Given the description of an element on the screen output the (x, y) to click on. 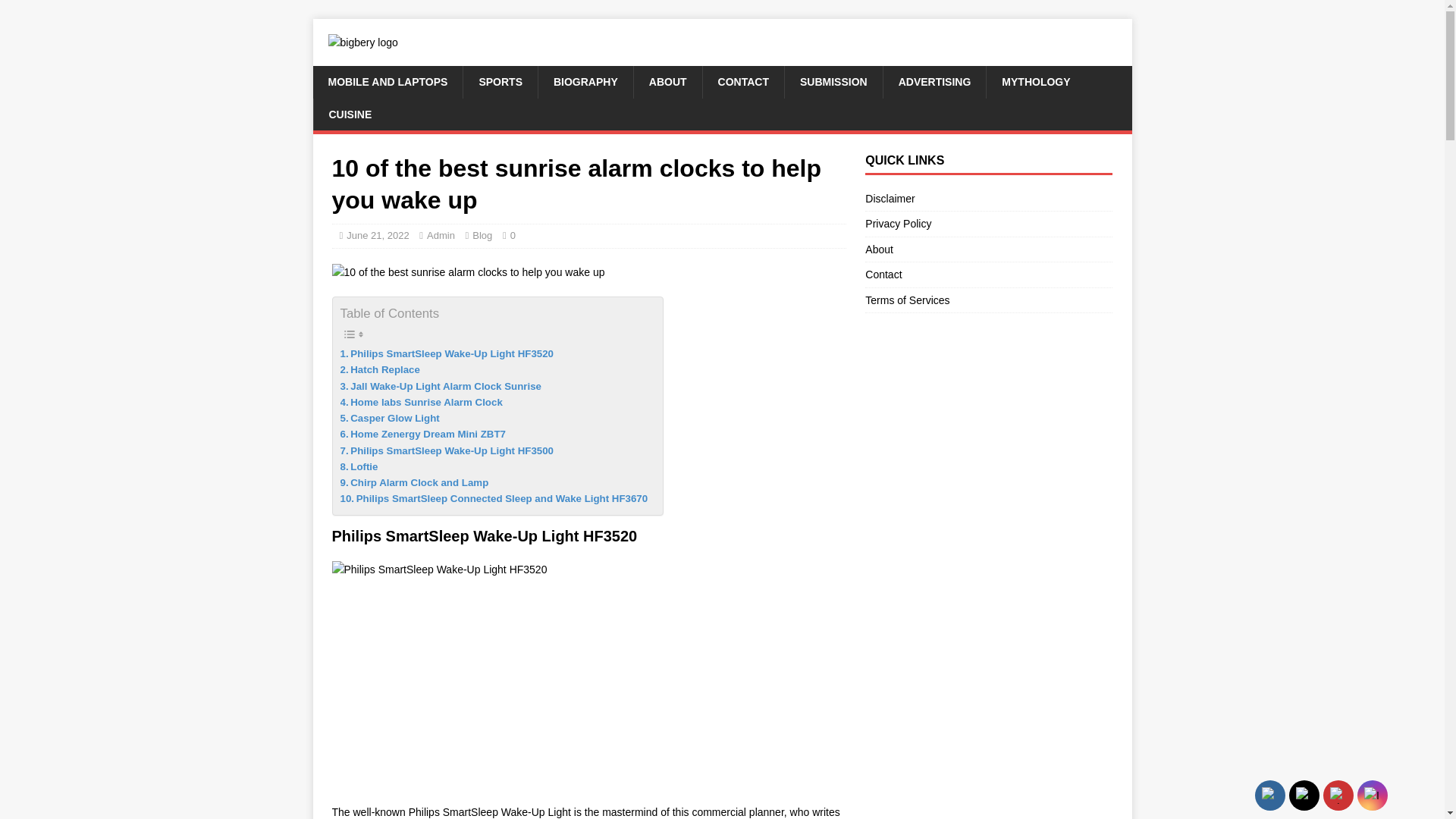
Jall Wake-Up Light Alarm Clock Sunrise (439, 385)
MYTHOLOGY (1034, 81)
ABOUT (667, 81)
Casper Glow Light (389, 417)
Chirp Alarm Clock and Lamp (413, 482)
SPORTS (500, 81)
Loftie (358, 466)
Home labs Sunrise Alarm Clock (420, 401)
Philips SmartSleep Connected Sleep and Wake Light HF3670 (493, 498)
Hatch Replace (379, 369)
Contact (988, 274)
Home Zenergy Dream Mini ZBT7 (422, 433)
Jall Wake-Up Light Alarm Clock Sunrise (439, 385)
About (988, 249)
